Given the description of an element on the screen output the (x, y) to click on. 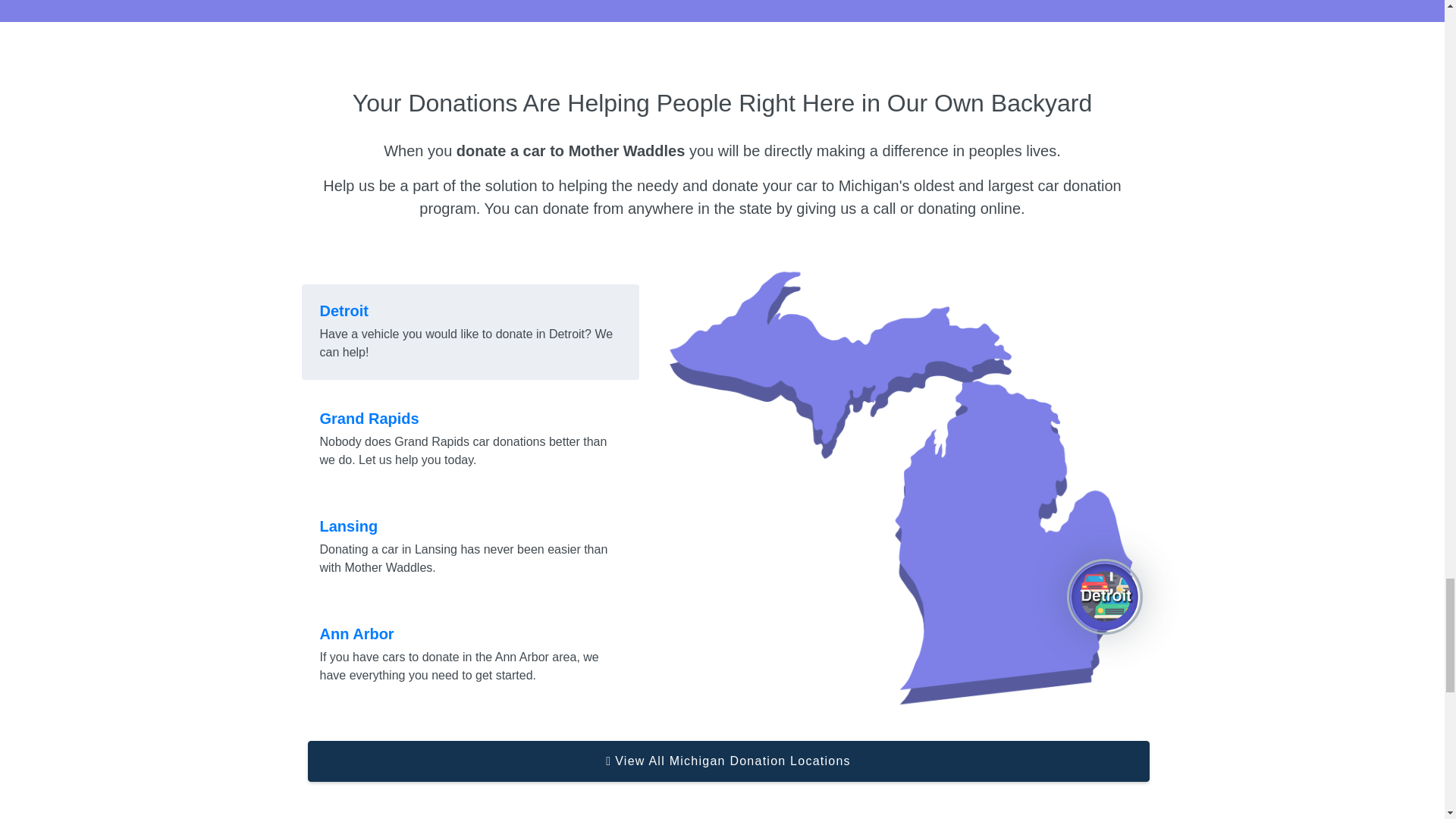
Ann Arbor (470, 644)
Grand Rapids (470, 428)
Lansing (470, 536)
View All Michigan Donation Locations (728, 761)
Detroit (470, 321)
